Given the description of an element on the screen output the (x, y) to click on. 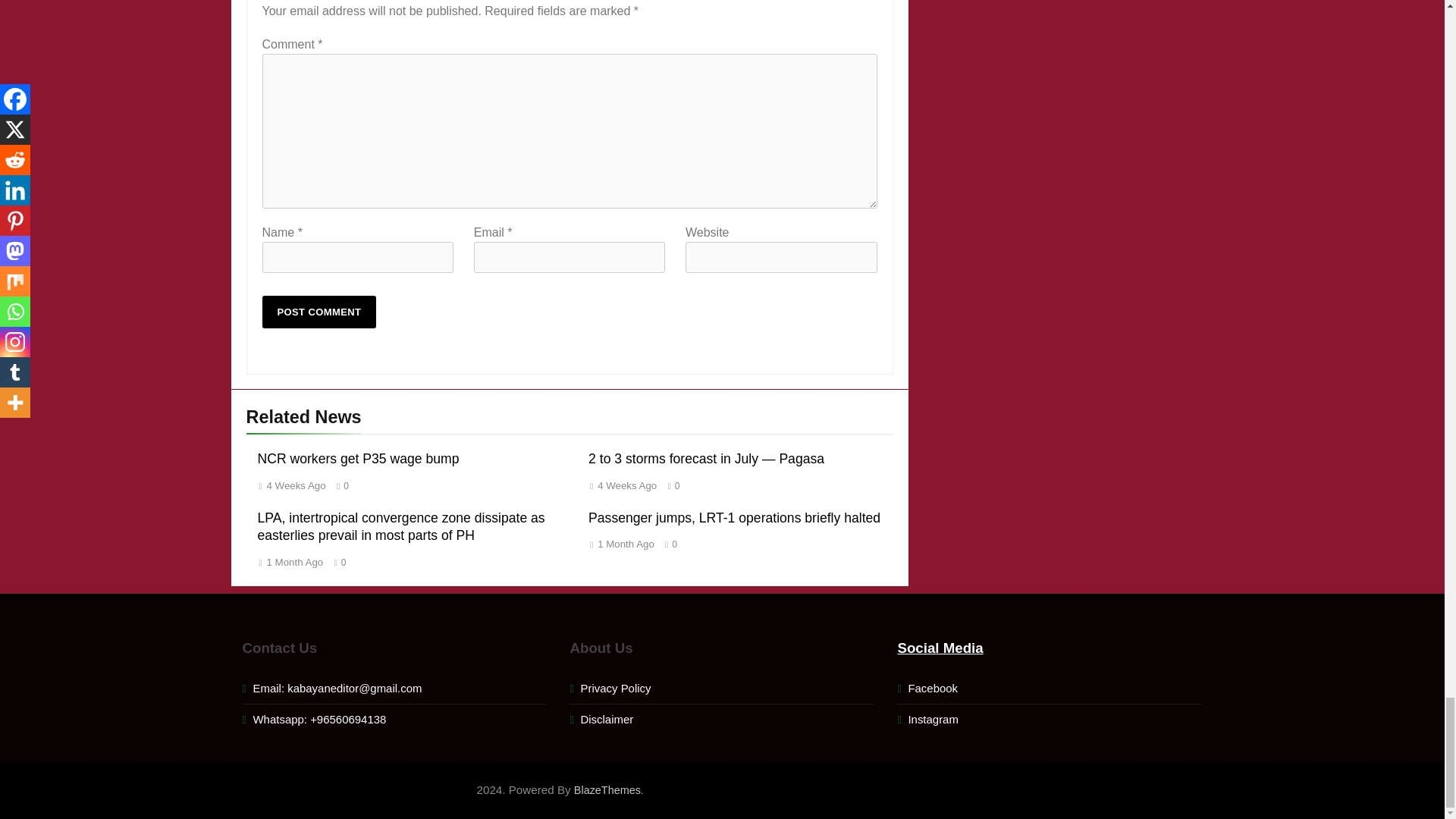
Post Comment (319, 311)
